Given the description of an element on the screen output the (x, y) to click on. 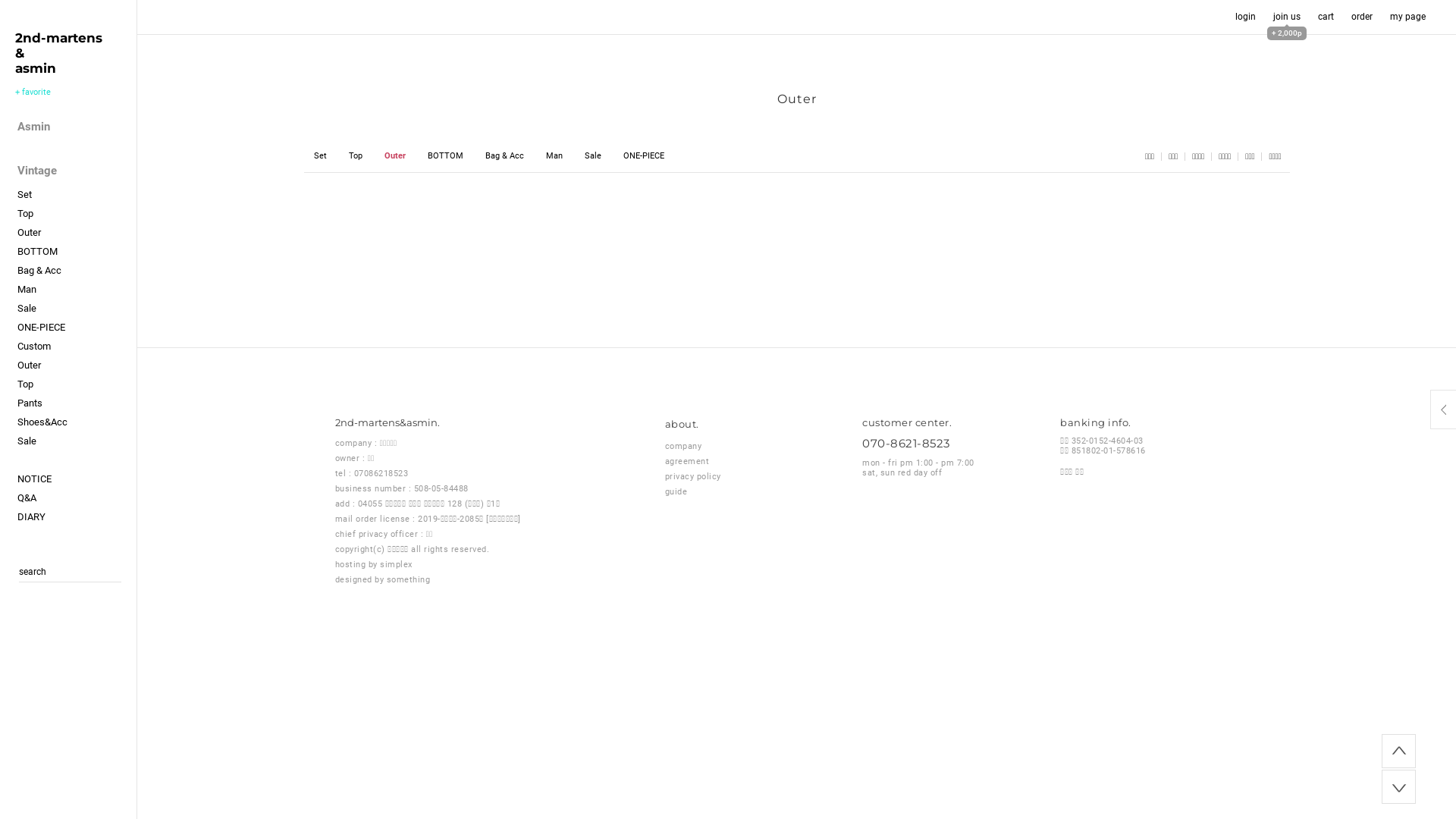
DIARY Element type: text (76, 516)
+ favorite Element type: text (32, 92)
Top Element type: text (76, 212)
my page Element type: text (1407, 16)
Outer Element type: text (76, 231)
Outer Element type: text (394, 155)
Q&A Element type: text (76, 497)
Man Element type: text (76, 288)
Sale Element type: text (76, 440)
Top Element type: text (76, 383)
Sale Element type: text (76, 307)
Sale Element type: text (592, 155)
login Element type: text (1245, 16)
cart Element type: text (1326, 16)
Bag & Acc Element type: text (503, 155)
2nd-martens
&
asmin Element type: text (58, 52)
BOTTOM Element type: text (444, 155)
join us
+ 2,000p Element type: text (1286, 16)
Set Element type: text (76, 194)
Top Element type: text (354, 155)
Man Element type: text (553, 155)
ONE-PIECE Element type: text (76, 326)
search Element type: text (32, 571)
guide Element type: text (676, 491)
ONE-PIECE Element type: text (642, 155)
Bag & Acc Element type: text (76, 269)
NOTICE Element type: text (76, 478)
order Element type: text (1361, 16)
company Element type: text (683, 446)
privacy policy Element type: text (693, 476)
agreement Element type: text (687, 461)
Shoes&Acc Element type: text (76, 421)
BOTTOM Element type: text (76, 250)
Outer Element type: text (76, 364)
Custom Element type: text (76, 345)
Set Element type: text (319, 155)
Pants Element type: text (76, 402)
designed by something Element type: text (382, 579)
